Given the description of an element on the screen output the (x, y) to click on. 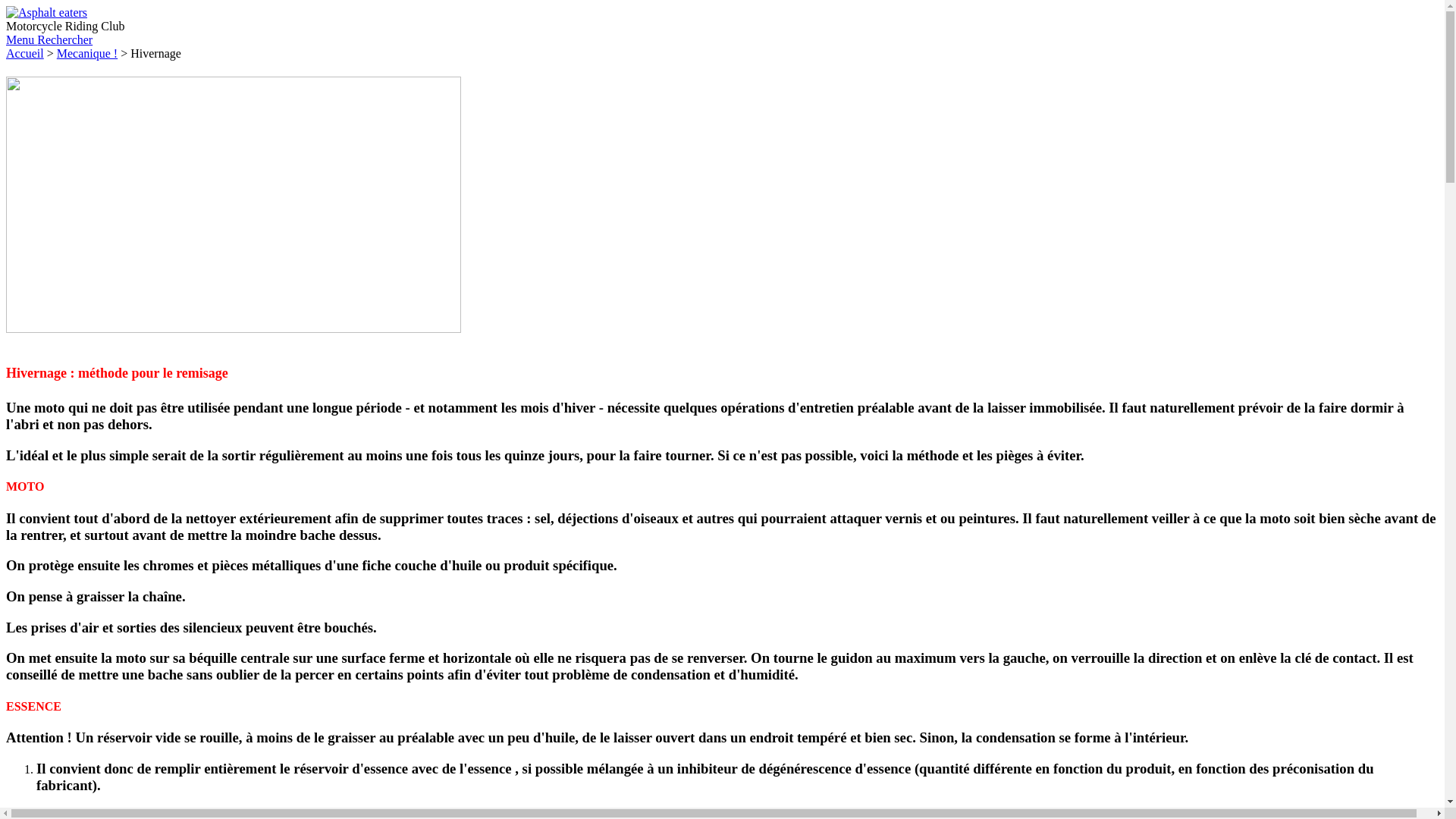
Menu Element type: text (21, 39)
Accueil Element type: text (24, 53)
Mecanique ! Element type: text (86, 53)
Rechercher Element type: text (64, 39)
